Given the description of an element on the screen output the (x, y) to click on. 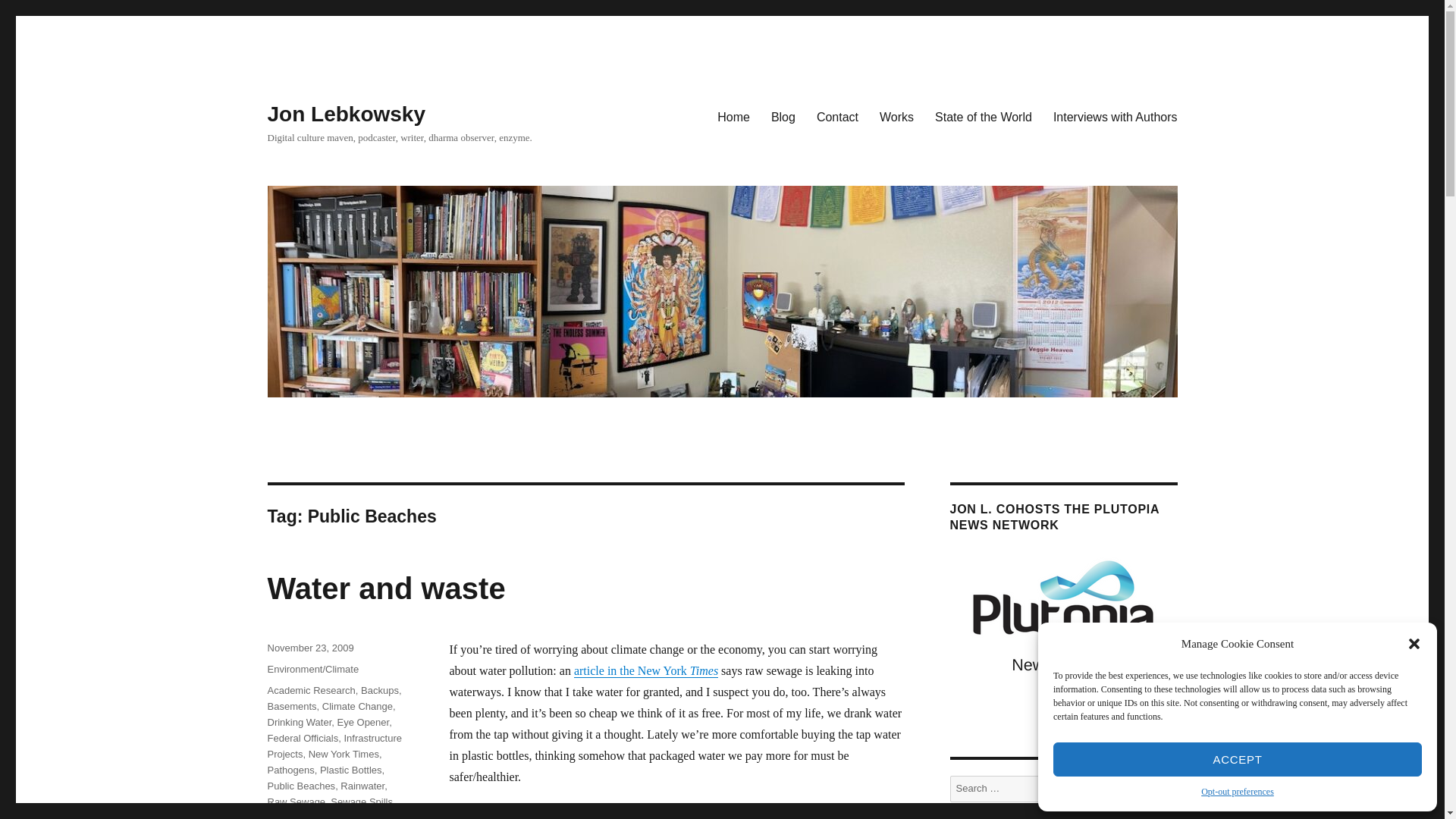
Basements (290, 706)
State of the World (983, 116)
November 23, 2009 (309, 647)
Drinking Water (298, 722)
article in the New York (631, 670)
Contact (837, 116)
Climate Change (357, 706)
Works (896, 116)
ACCEPT (1237, 759)
Backups (379, 690)
